Given the description of an element on the screen output the (x, y) to click on. 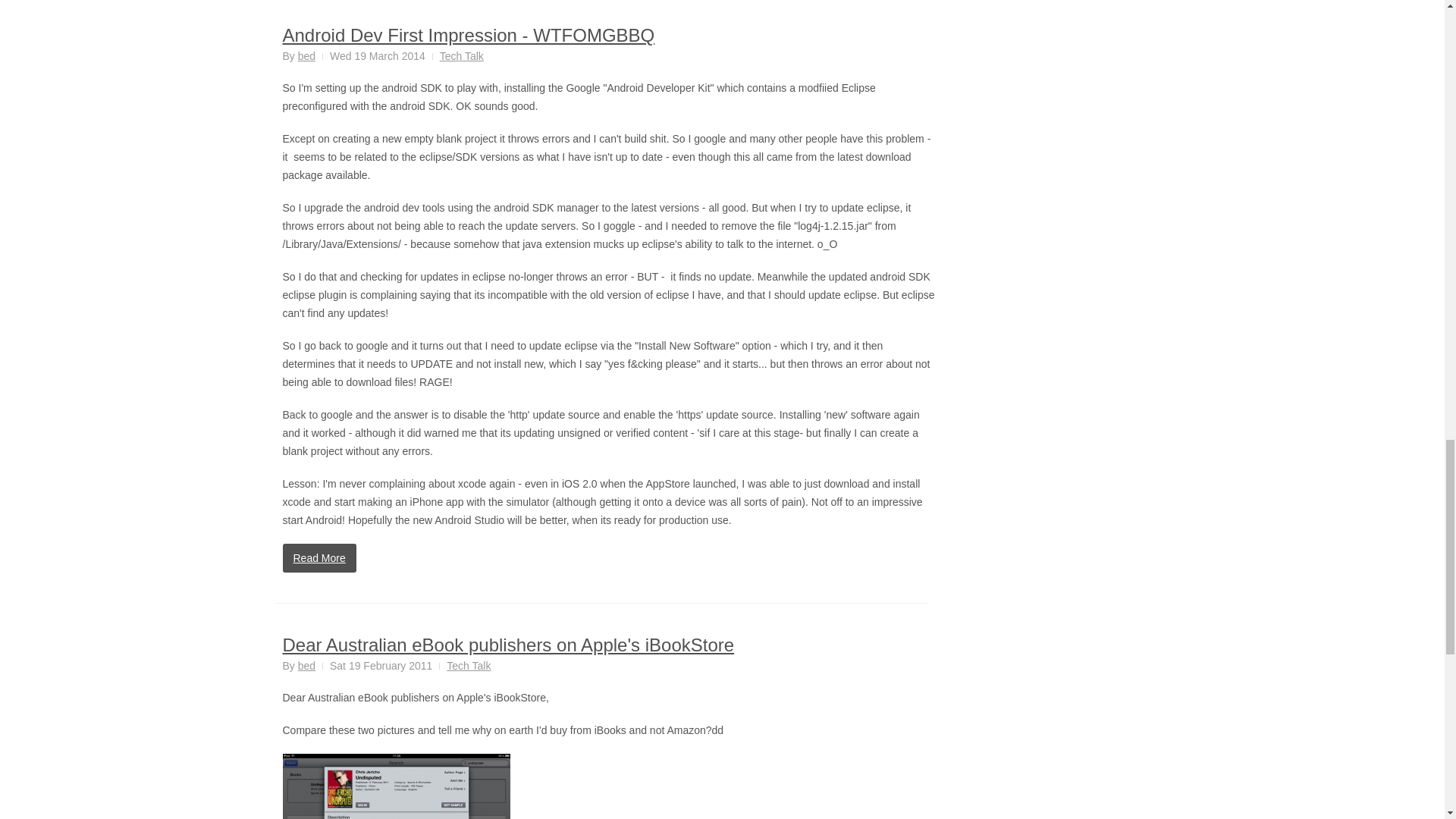
Android Dev First Impression - WTFOMGBBQ (467, 35)
Dear Australian eBook publishers on Apple's iBookStore (507, 644)
Tech Talk (468, 665)
Tech Talk (461, 55)
Permalink to Android Dev First Impression - WTFOMGBBQ (467, 35)
Read More (318, 557)
bed (306, 55)
bed (306, 665)
undisputed-ibooks (395, 786)
